Given the description of an element on the screen output the (x, y) to click on. 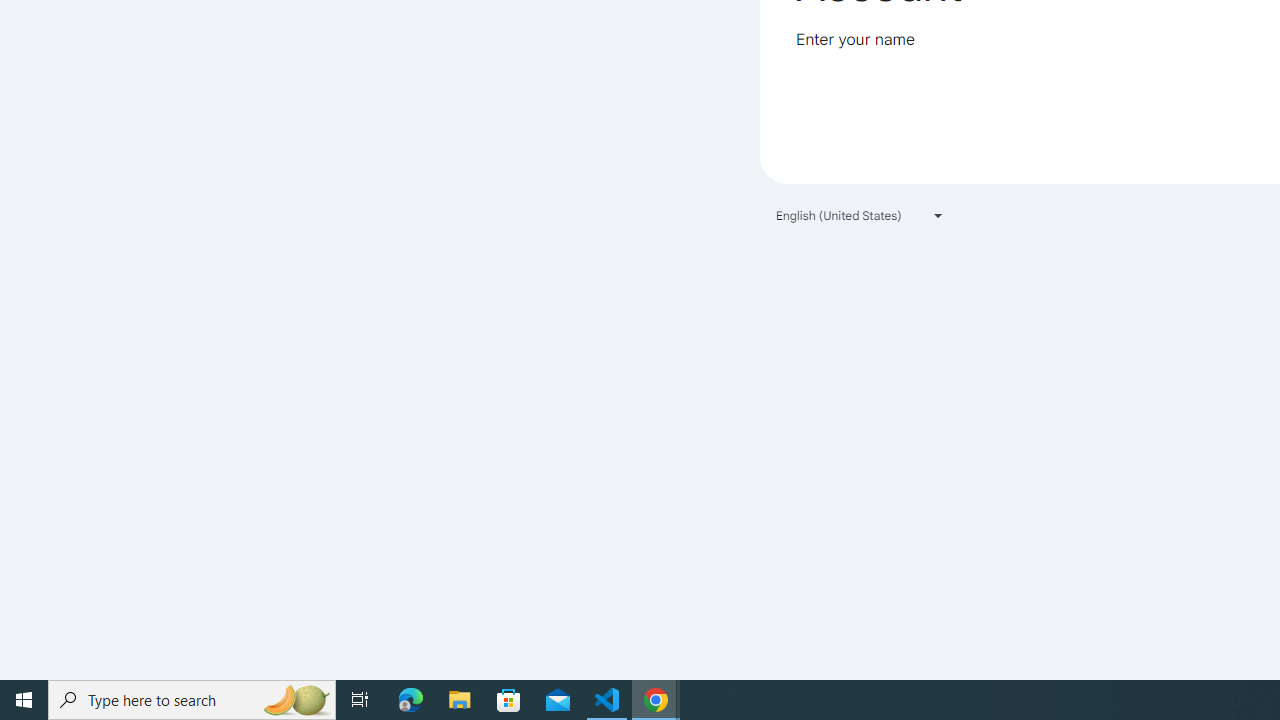
English (United States) (860, 214)
